Given the description of an element on the screen output the (x, y) to click on. 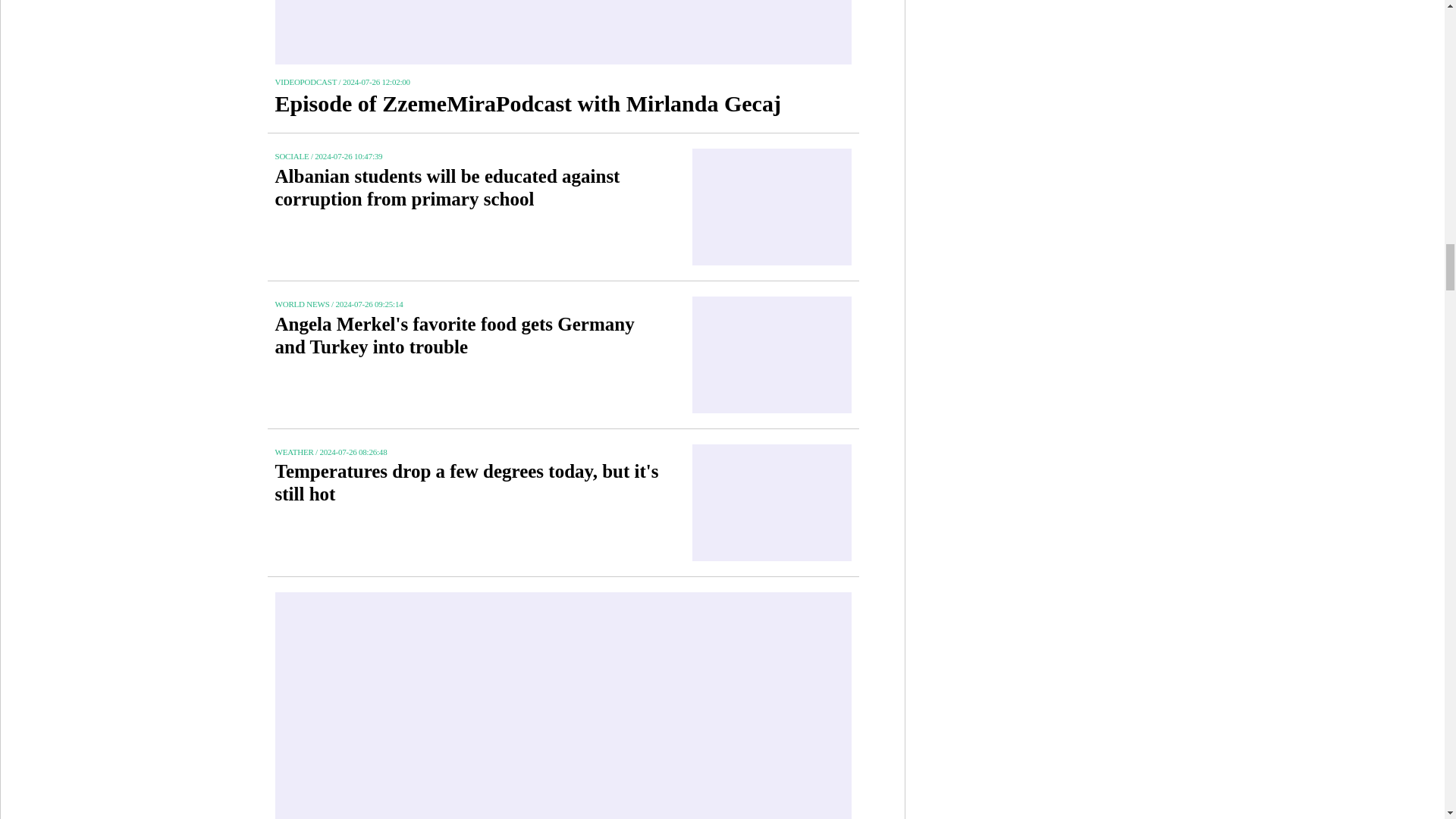
Temperatures drop a few degrees today, but it's still hot (471, 490)
Episode of ZzemeMiraPodcast with Mirlanda Gecaj (551, 111)
